Given the description of an element on the screen output the (x, y) to click on. 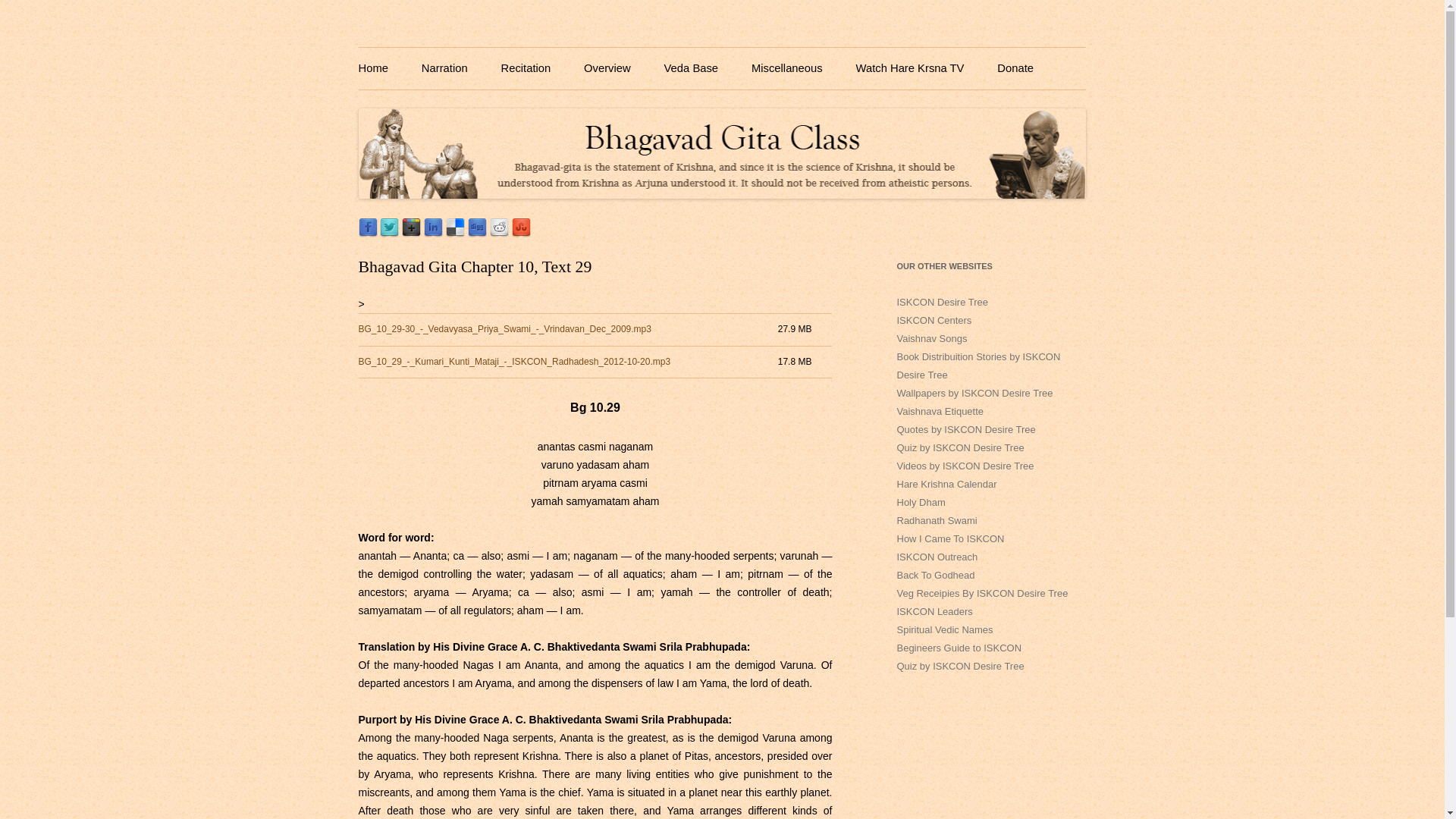
Bhagavad Gita Narration (444, 68)
Veda Base (691, 68)
Wallpapers by ISKCON Desire Tree (974, 392)
Tweet Srimad Bhagavatam Class (389, 233)
Book Distribuition Stories by ISKCON Desire Tree (977, 365)
Bhagavad Gita Recitation (525, 68)
Narration (444, 68)
Share Srimad Bhagavatam Class on Linkedin (432, 233)
Recitation (525, 68)
ISKCON Centers (933, 319)
Bookmark Srimad Bhagavatam Class on Delicious (454, 233)
Share Srimad Bhagavatam Class on Facebook (367, 233)
Vaishnava Etiquette (940, 410)
Digg Srimad Bhagavatam Class! (476, 233)
